Given the description of an element on the screen output the (x, y) to click on. 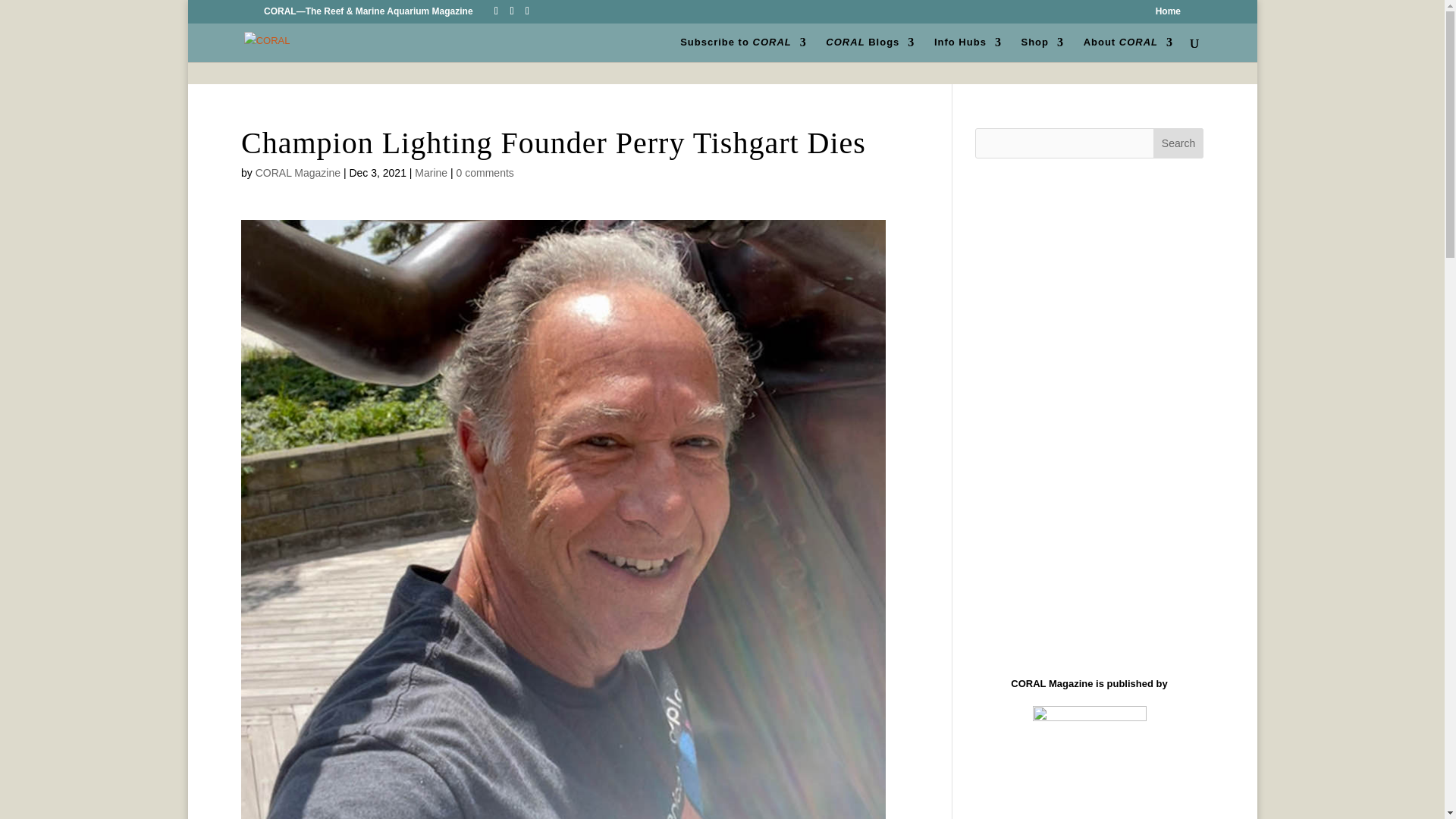
CORAL Blogs (869, 49)
Home (1168, 14)
Subscribe to CORAL (742, 49)
Subscribe to CORAL Magazine (742, 49)
Info Hubs (967, 49)
